Given the description of an element on the screen output the (x, y) to click on. 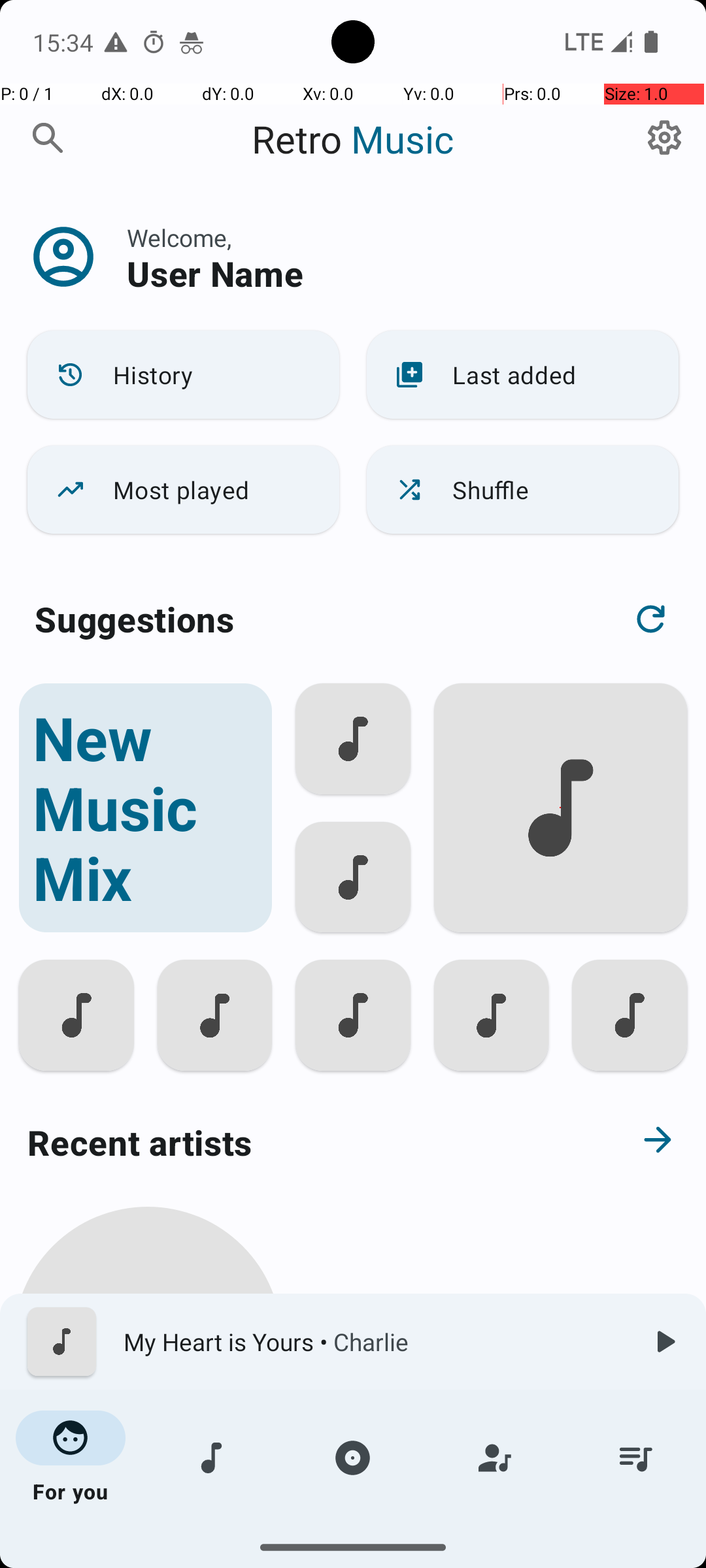
Welcome, Element type: android.widget.TextView (179, 237)
User Name Element type: android.widget.TextView (214, 273)
My Heart is Yours • Charlie Element type: android.widget.TextView (372, 1341)
Most played Element type: android.widget.Button (183, 489)
Suggestions Element type: android.widget.TextView (134, 618)
New Music Mix Element type: android.widget.TextView (144, 807)
Recent artists Element type: android.widget.TextView (304, 1141)
Recent albums Element type: android.widget.TextView (304, 1557)
Mohammad Element type: android.widget.TextView (147, 1503)
